Given the description of an element on the screen output the (x, y) to click on. 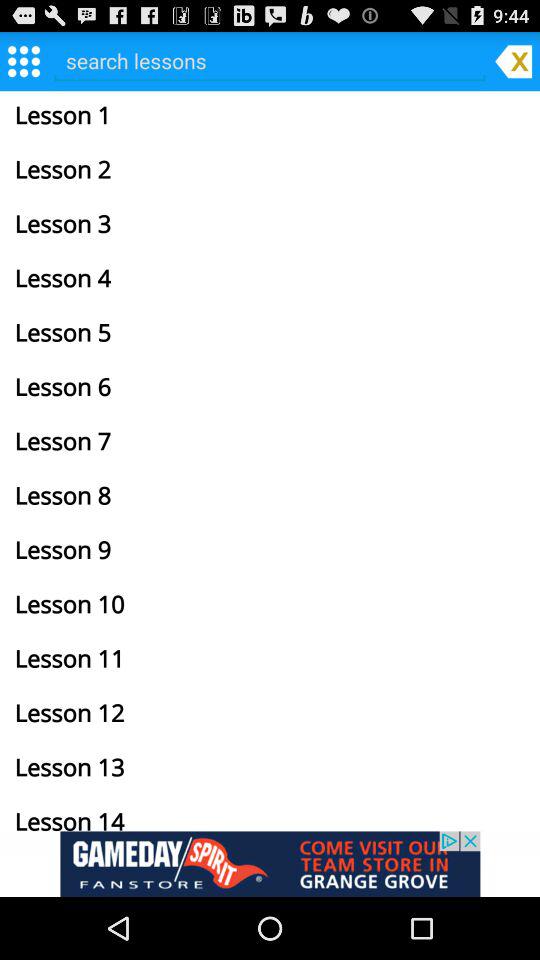
search screen for lessons (269, 60)
